Given the description of an element on the screen output the (x, y) to click on. 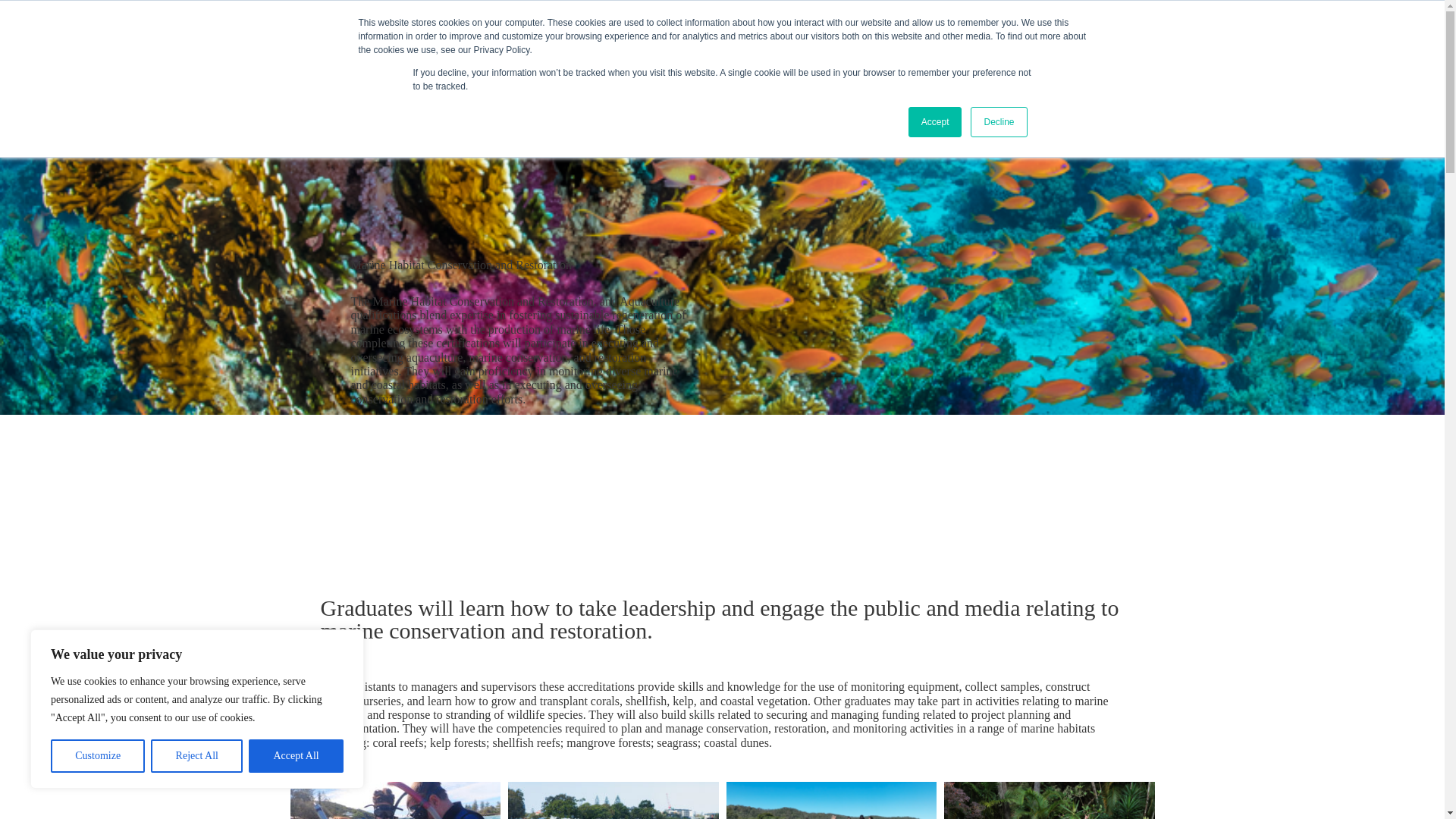
High School (760, 32)
Accept (935, 122)
Customize (97, 756)
Accept All (295, 756)
About Us (675, 32)
Home (606, 32)
Qualifications (859, 32)
Decline (998, 122)
Reject All (197, 756)
